Given the description of an element on the screen output the (x, y) to click on. 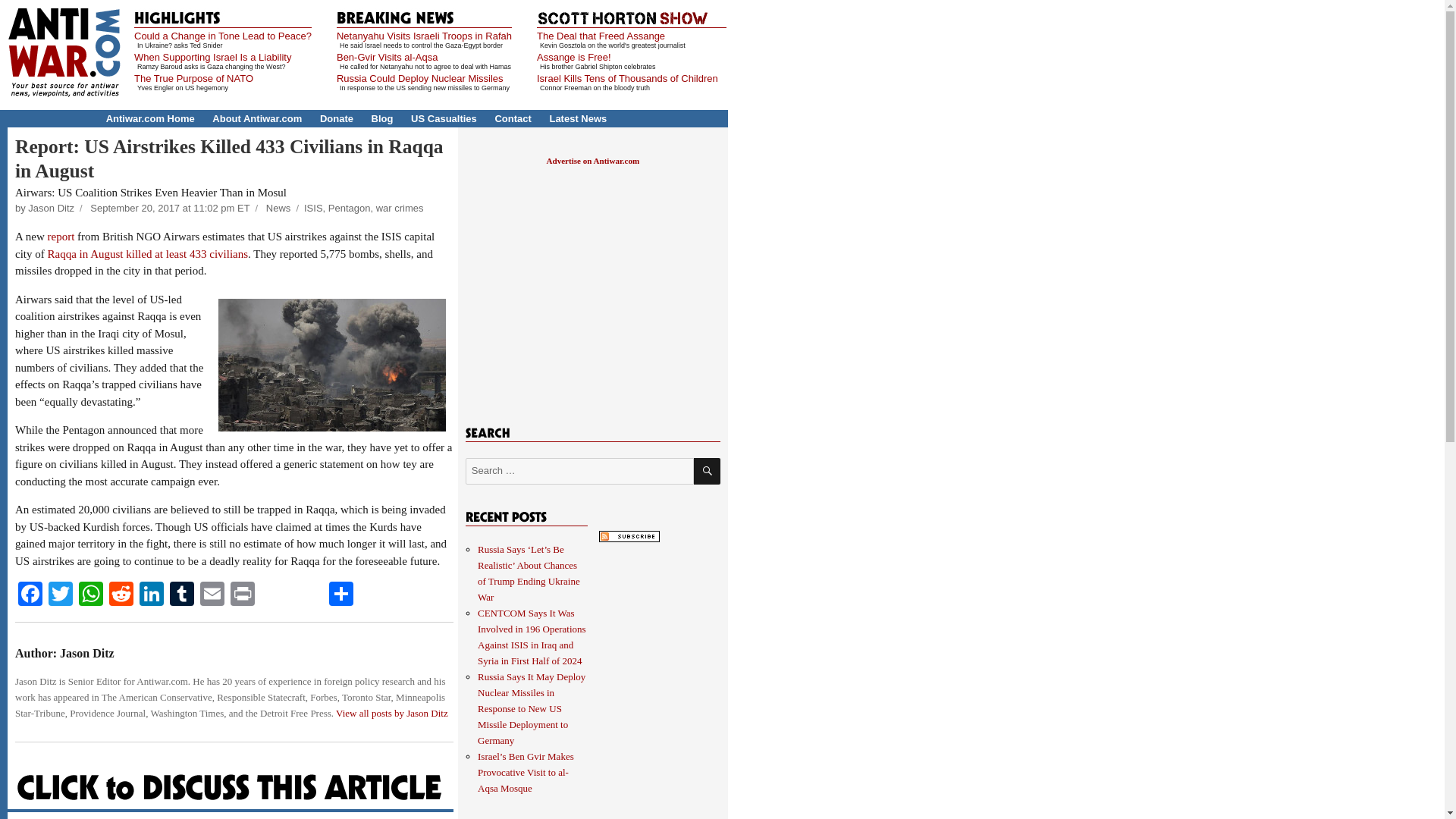
Reddit (121, 595)
Print (242, 595)
Could a Change in Tone Lead to Peace? (222, 35)
Russia Could Deploy Nuclear Missiles (419, 78)
Ben-Gvir Visits al-Aqsa (387, 57)
US Casualties (443, 118)
Blog (382, 118)
News (278, 207)
LinkedIn (151, 595)
Assange is Free! (574, 57)
Email (211, 595)
Contact (513, 118)
LinkedIn (151, 595)
Latest News (577, 118)
report (61, 236)
